Given the description of an element on the screen output the (x, y) to click on. 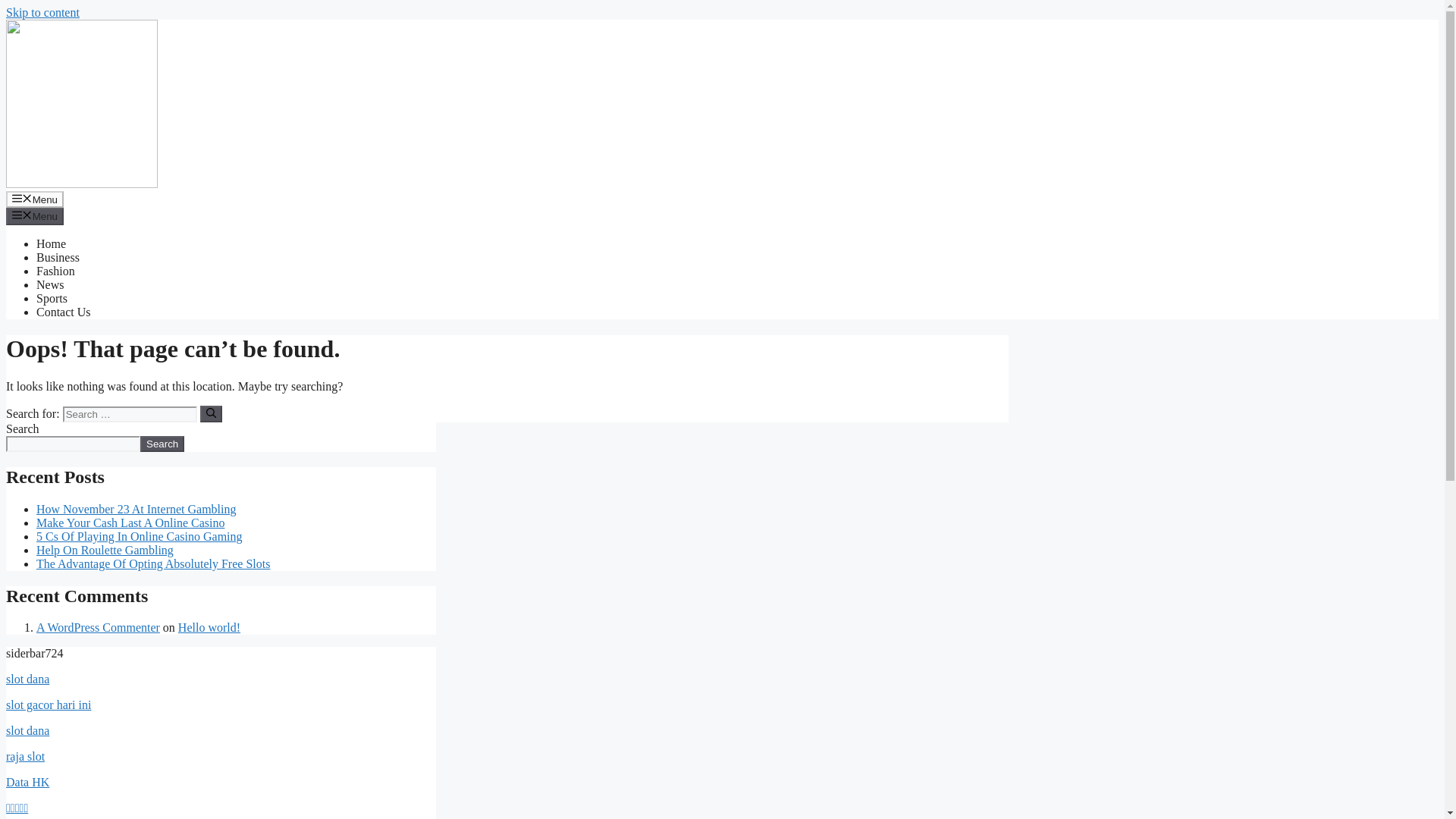
raja slot (25, 756)
Skip to content (42, 11)
slot dana (27, 678)
Data HK (27, 781)
Help On Roulette Gambling (104, 549)
5 Cs Of Playing In Online Casino Gaming (139, 535)
News (50, 284)
Sports (51, 297)
Search for: (129, 414)
Search (161, 443)
Menu (34, 216)
Home (50, 243)
Business (58, 256)
Skip to content (42, 11)
A WordPress Commenter (98, 626)
